Given the description of an element on the screen output the (x, y) to click on. 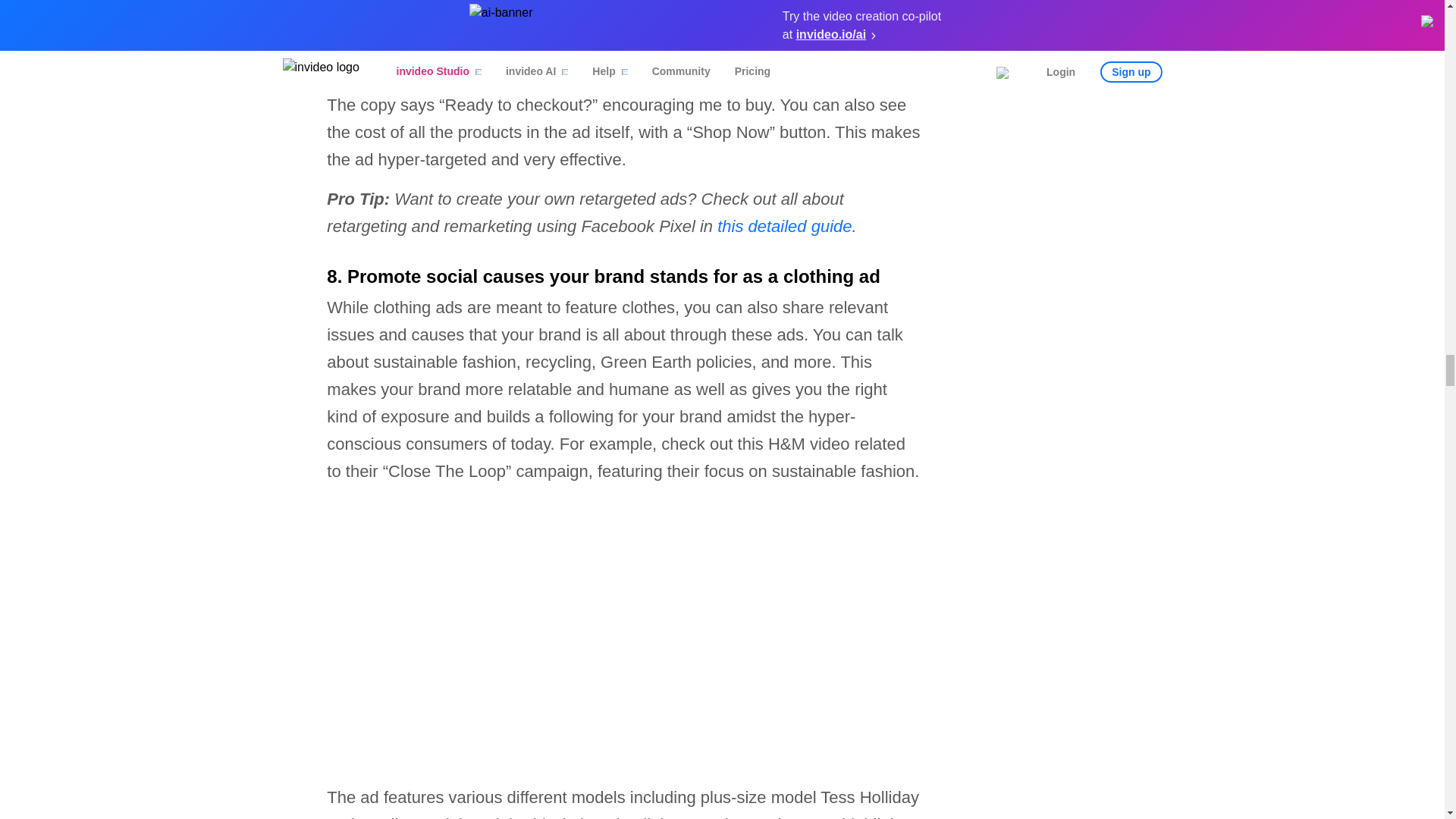
this detailed guide (784, 226)
